Given the description of an element on the screen output the (x, y) to click on. 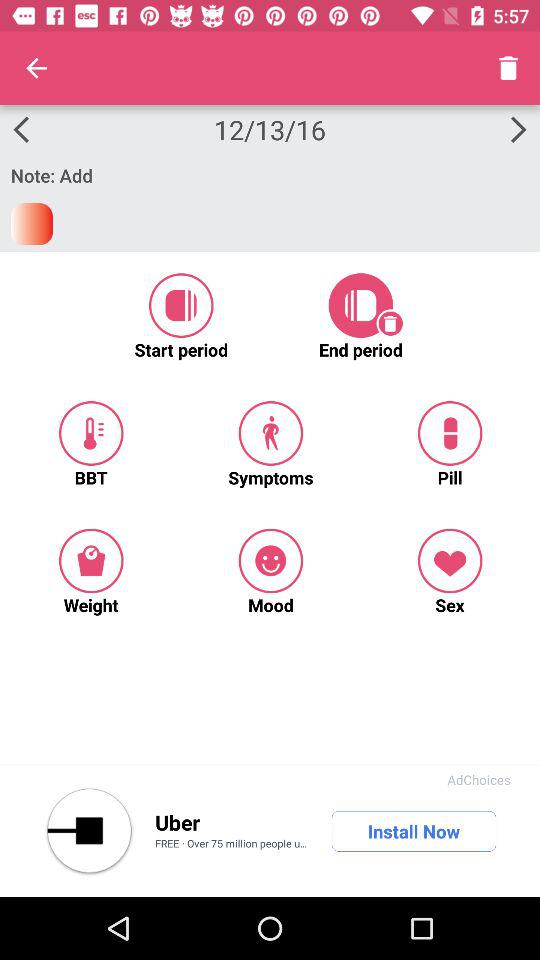
turn off the item below the uber (233, 845)
